Given the description of an element on the screen output the (x, y) to click on. 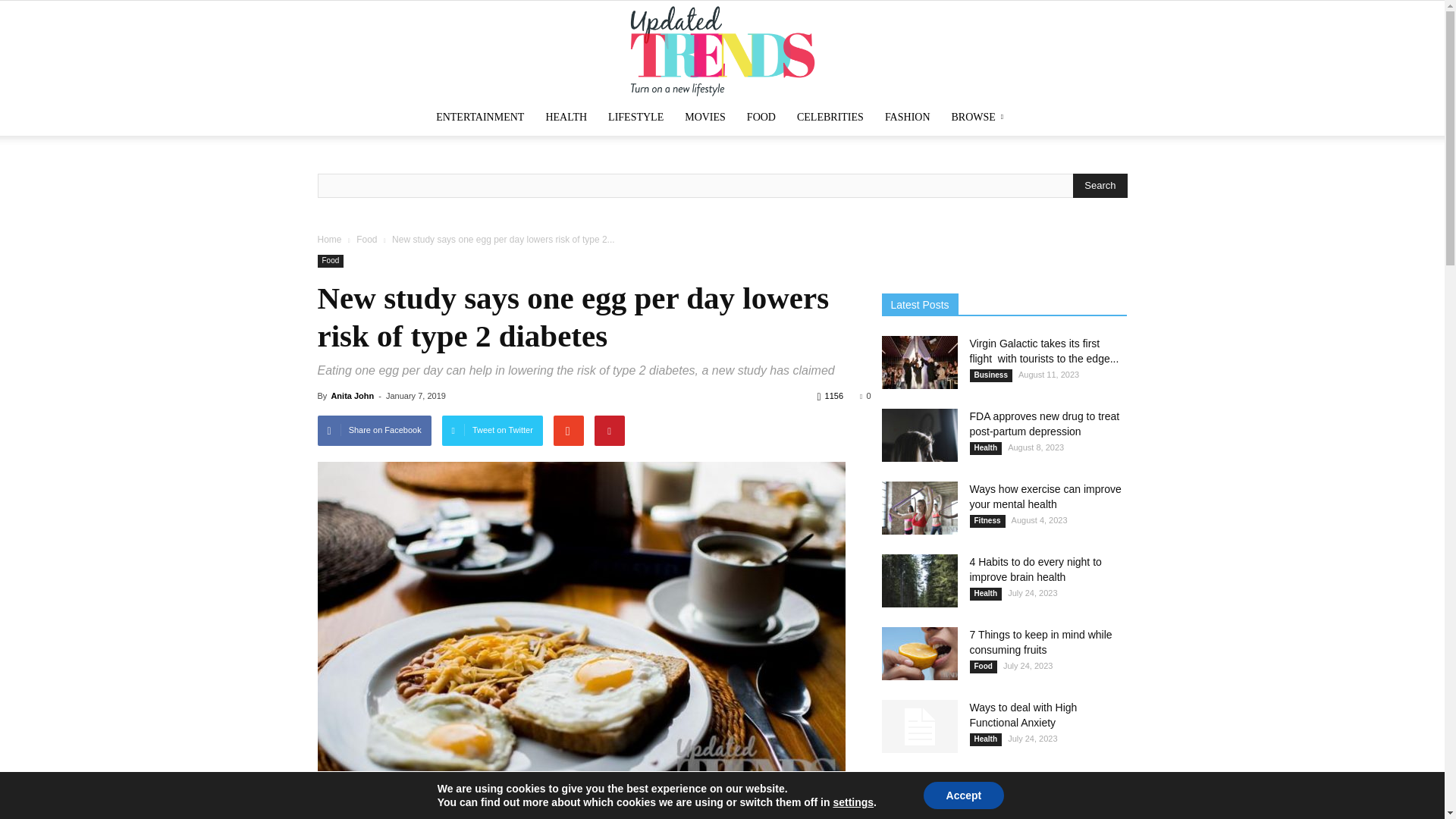
FOOD (761, 117)
MOVIES (705, 117)
CELEBRITIES (830, 117)
HEALTH (565, 117)
Search (1099, 185)
BROWSE (979, 117)
LIFESTYLE (635, 117)
View all posts in Food (366, 239)
ENTERTAINMENT (479, 117)
FASHION (907, 117)
